Given the description of an element on the screen output the (x, y) to click on. 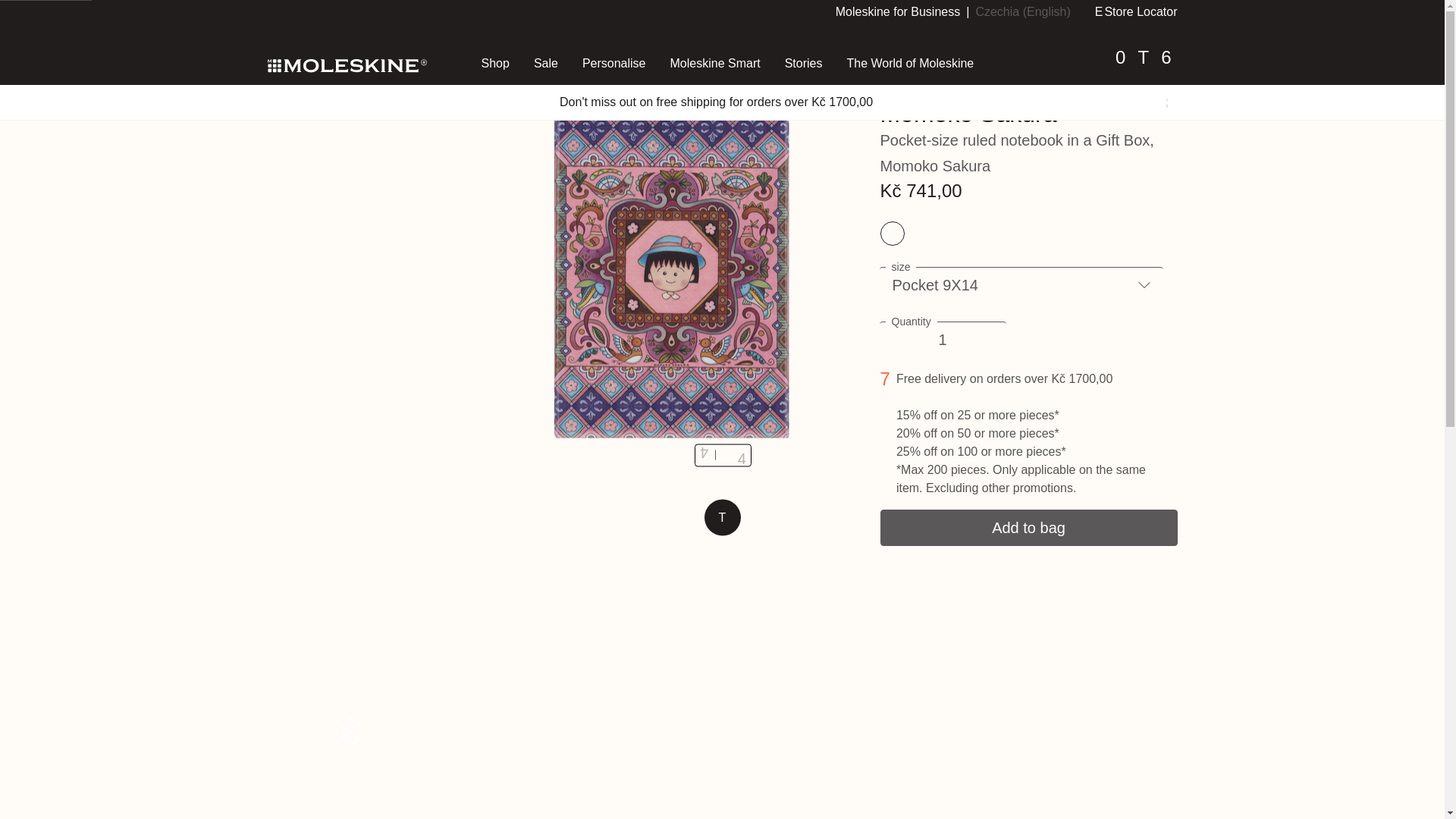
Choose your country (1022, 11)
Moleskine Home (346, 64)
Shop (325, 21)
1 (942, 339)
Limited Editions (393, 21)
Asian Collection 2024 (507, 21)
Home (494, 63)
Moleskine for Business (282, 21)
Store Locator (897, 11)
Momoko Sakura (1135, 11)
